Given the description of an element on the screen output the (x, y) to click on. 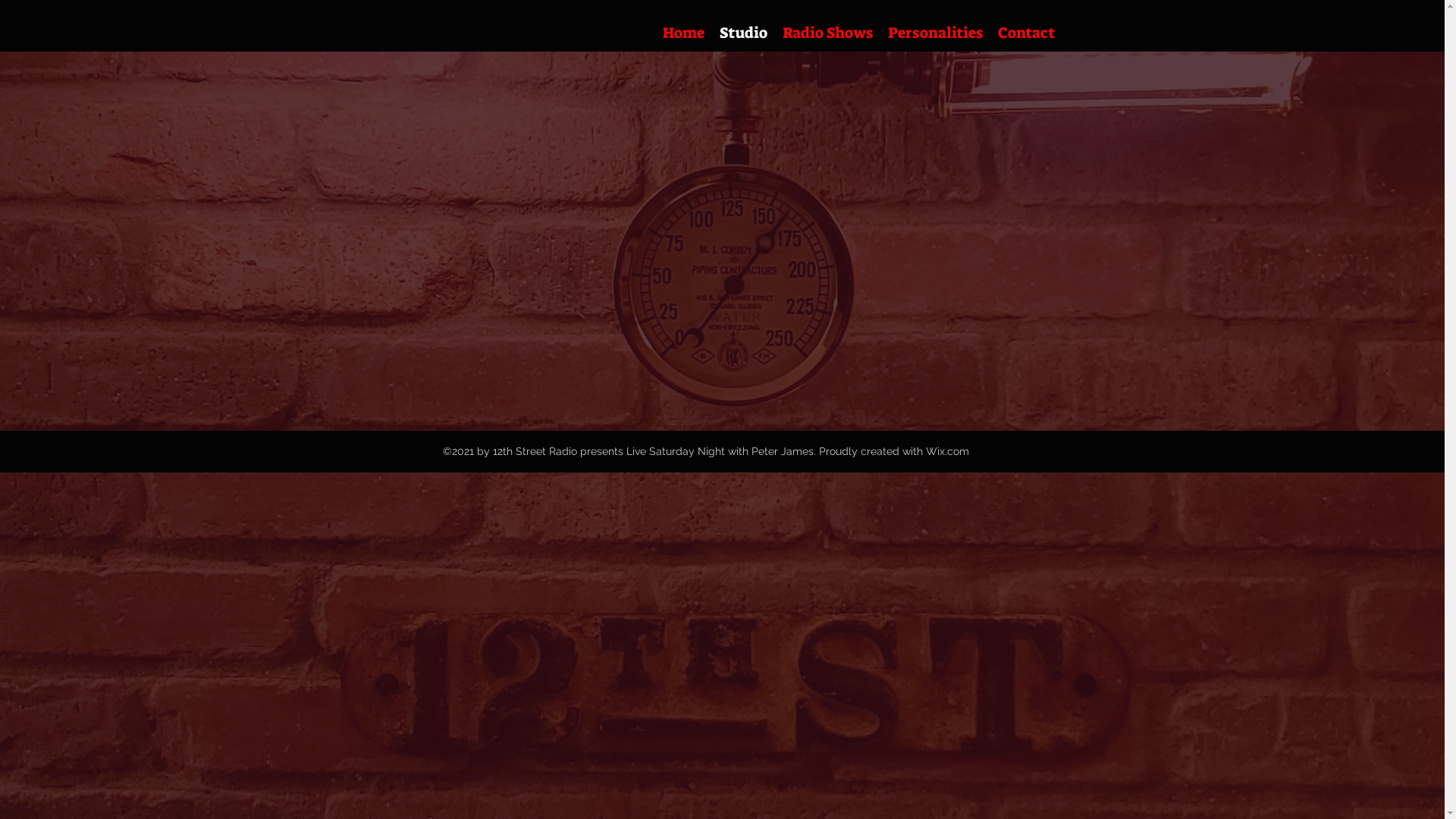
Home Element type: text (683, 32)
Personalities Element type: text (934, 32)
Radio Shows Element type: text (827, 32)
Contact Element type: text (1026, 32)
Studio Element type: text (742, 32)
